Given the description of an element on the screen output the (x, y) to click on. 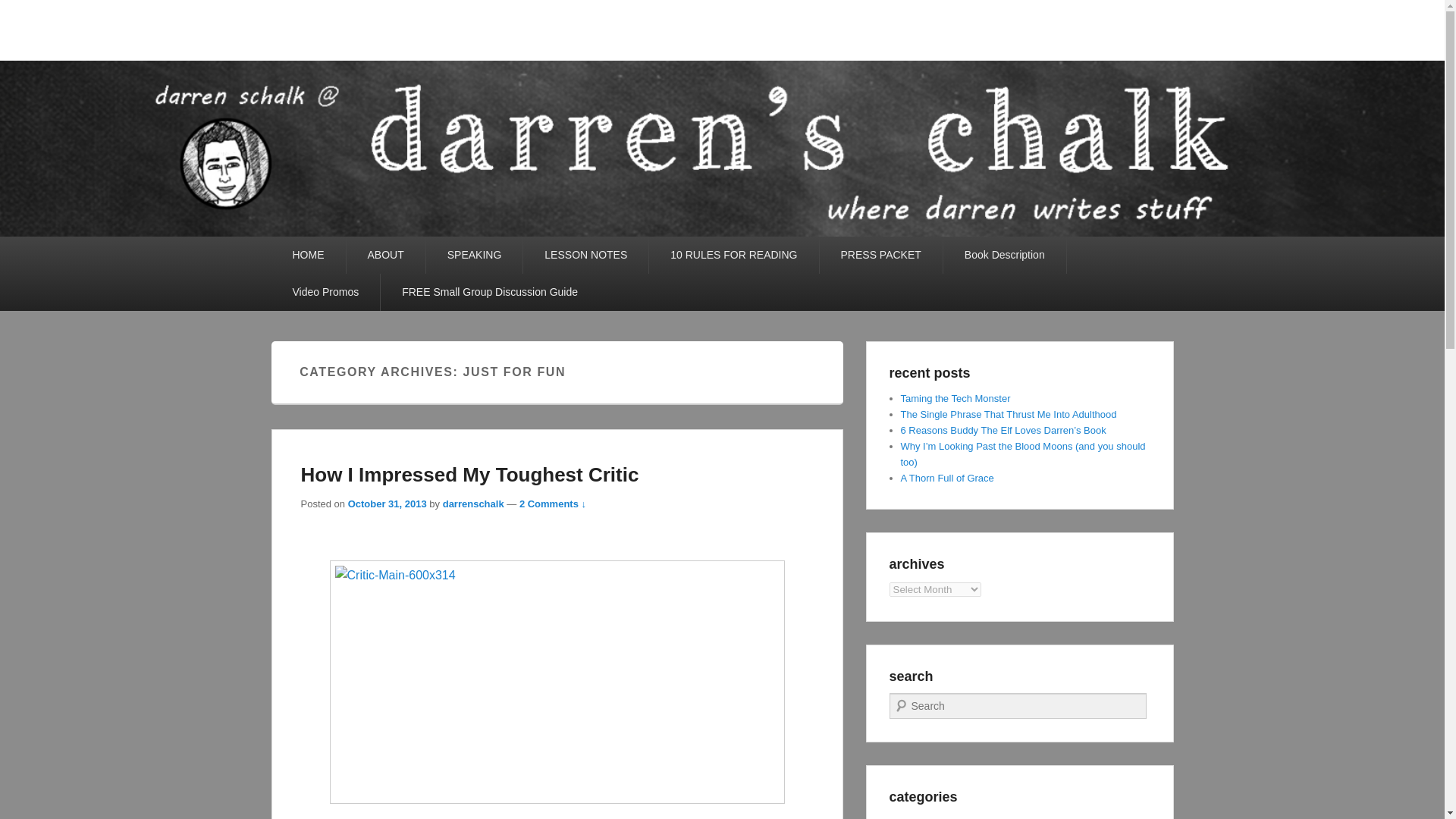
The Single Phrase That Thrust Me Into Adulthood (1008, 414)
10 RULES FOR READING (733, 254)
A Thorn Full of Grace (947, 478)
FREE Small Group Discussion Guide (489, 292)
PRESS PACKET (880, 254)
8:05 am (386, 503)
Permalink to How I Impressed My Toughest Critic (469, 474)
View all posts by darrenschalk (472, 503)
SPEAKING (474, 254)
Video Promos (325, 292)
Book Updates (931, 817)
How I Impressed My Toughest Critic (469, 474)
ABOUT (385, 254)
Search (21, 11)
darrenschalk (472, 503)
